Given the description of an element on the screen output the (x, y) to click on. 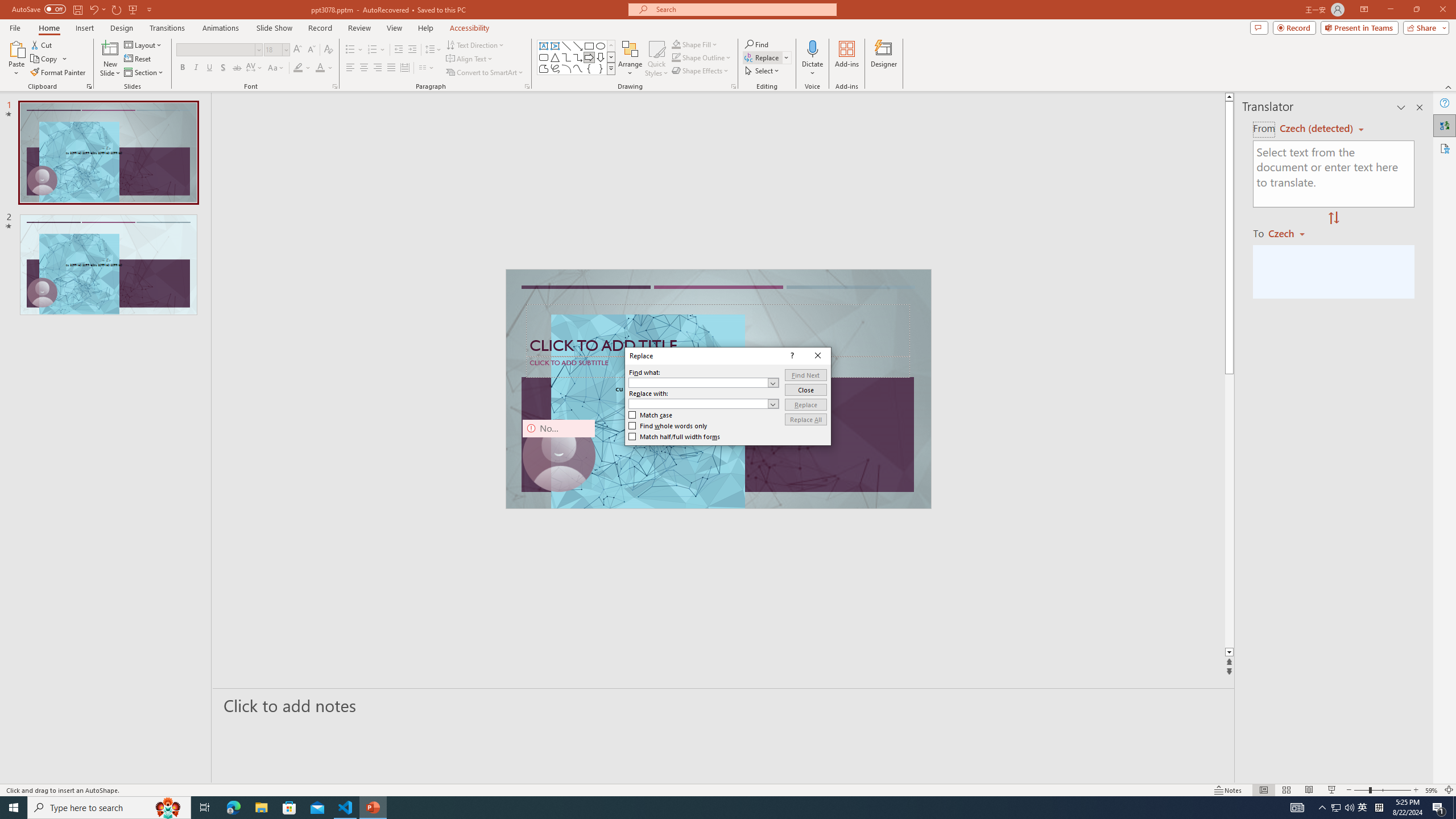
Shape Fill Dark Green, Accent 2 (675, 44)
